Given the description of an element on the screen output the (x, y) to click on. 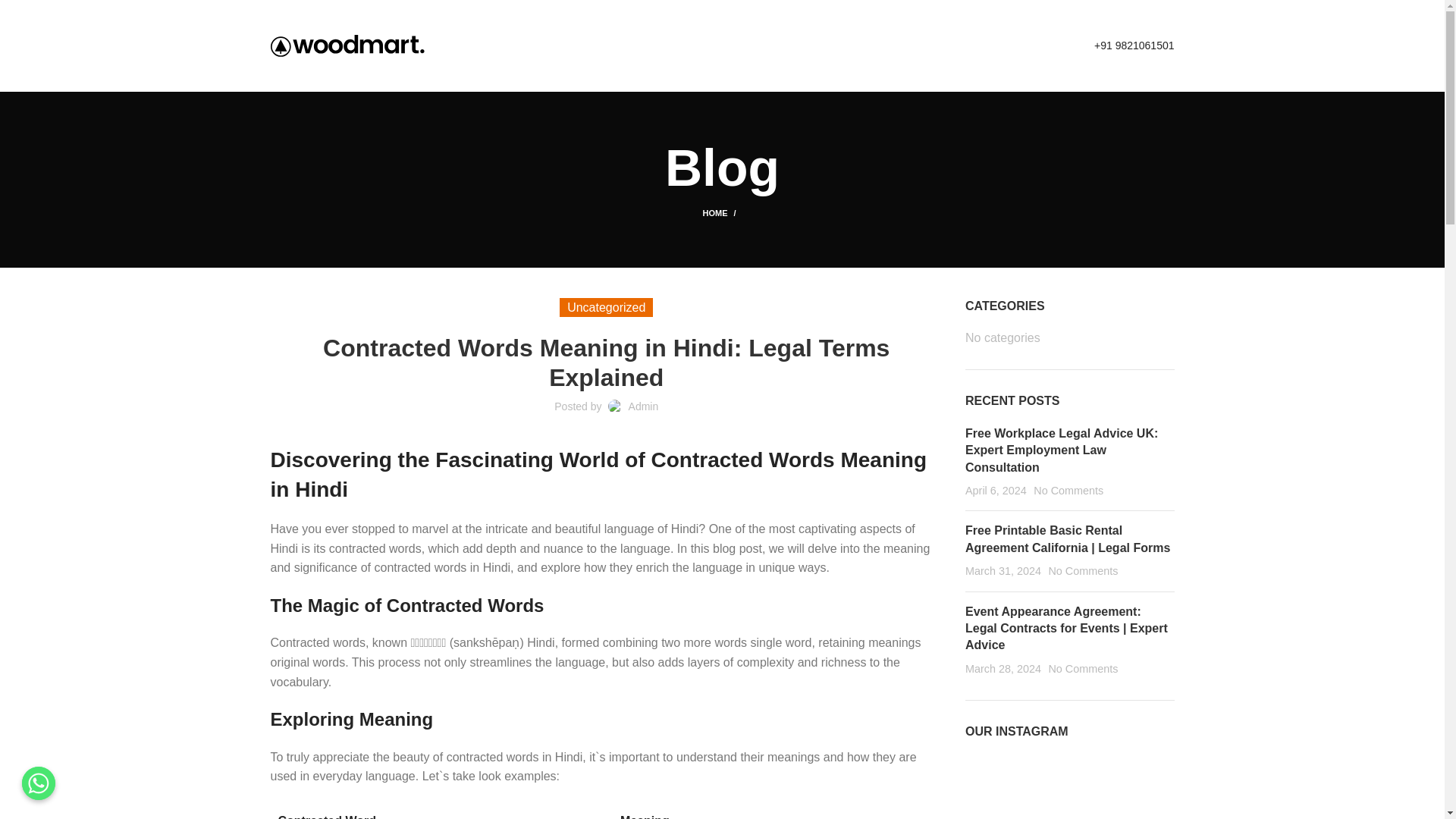
HOME (721, 213)
No Comments (1083, 571)
Admin (643, 406)
No Comments (1068, 490)
No Comments (1083, 668)
